Given the description of an element on the screen output the (x, y) to click on. 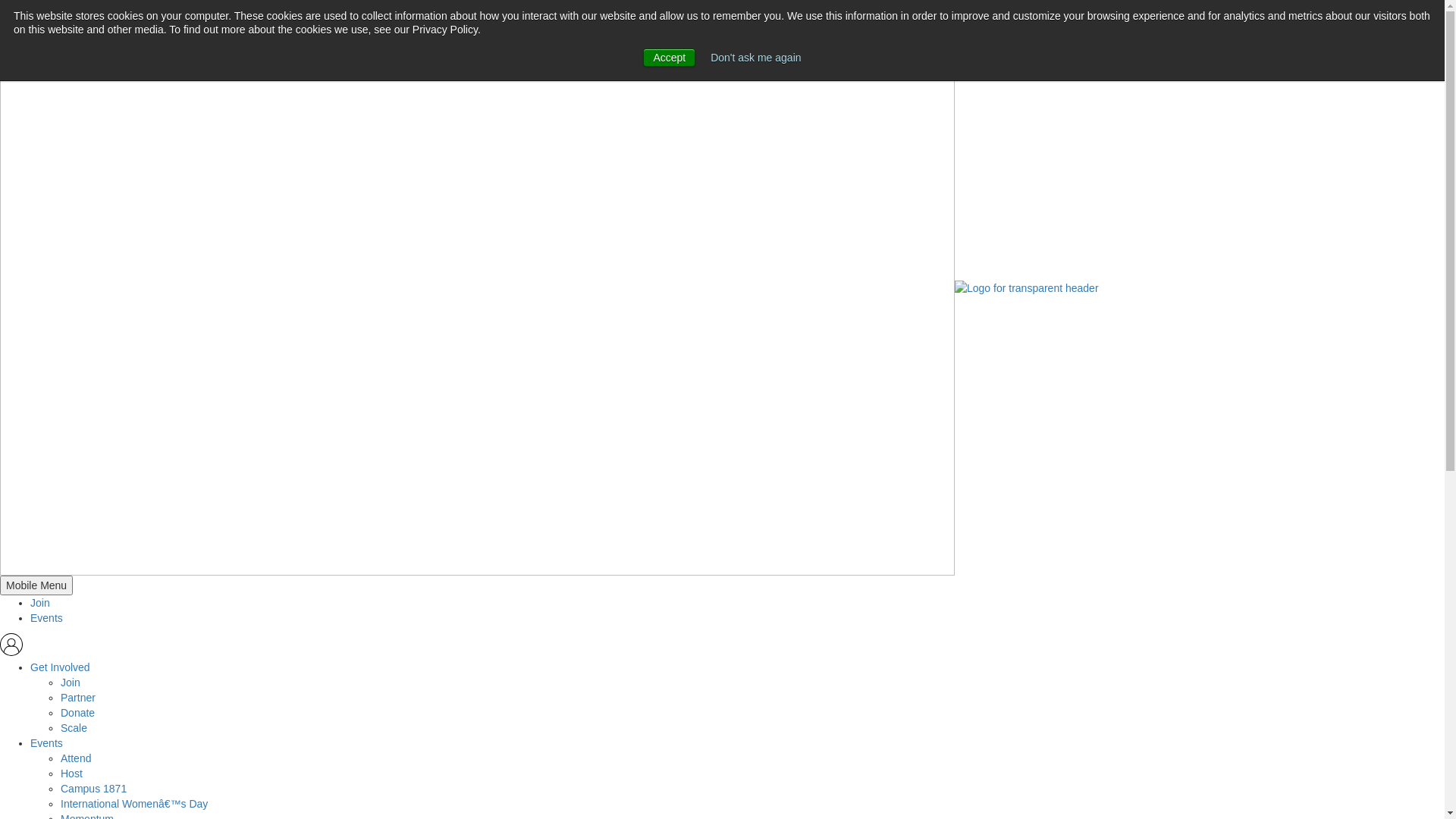
Join Element type: text (70, 682)
Get Involved Element type: text (60, 667)
Don't ask me again Element type: text (755, 57)
Events Element type: text (46, 617)
Host Element type: text (71, 773)
Campus 1871 Element type: text (93, 788)
Scale Element type: text (73, 727)
Partner Element type: text (77, 697)
Events Element type: text (46, 743)
Accept Element type: text (669, 57)
Donate Element type: text (77, 712)
Attend Element type: text (75, 758)
Join Element type: text (40, 602)
Mobile Menu Element type: text (36, 585)
